Given the description of an element on the screen output the (x, y) to click on. 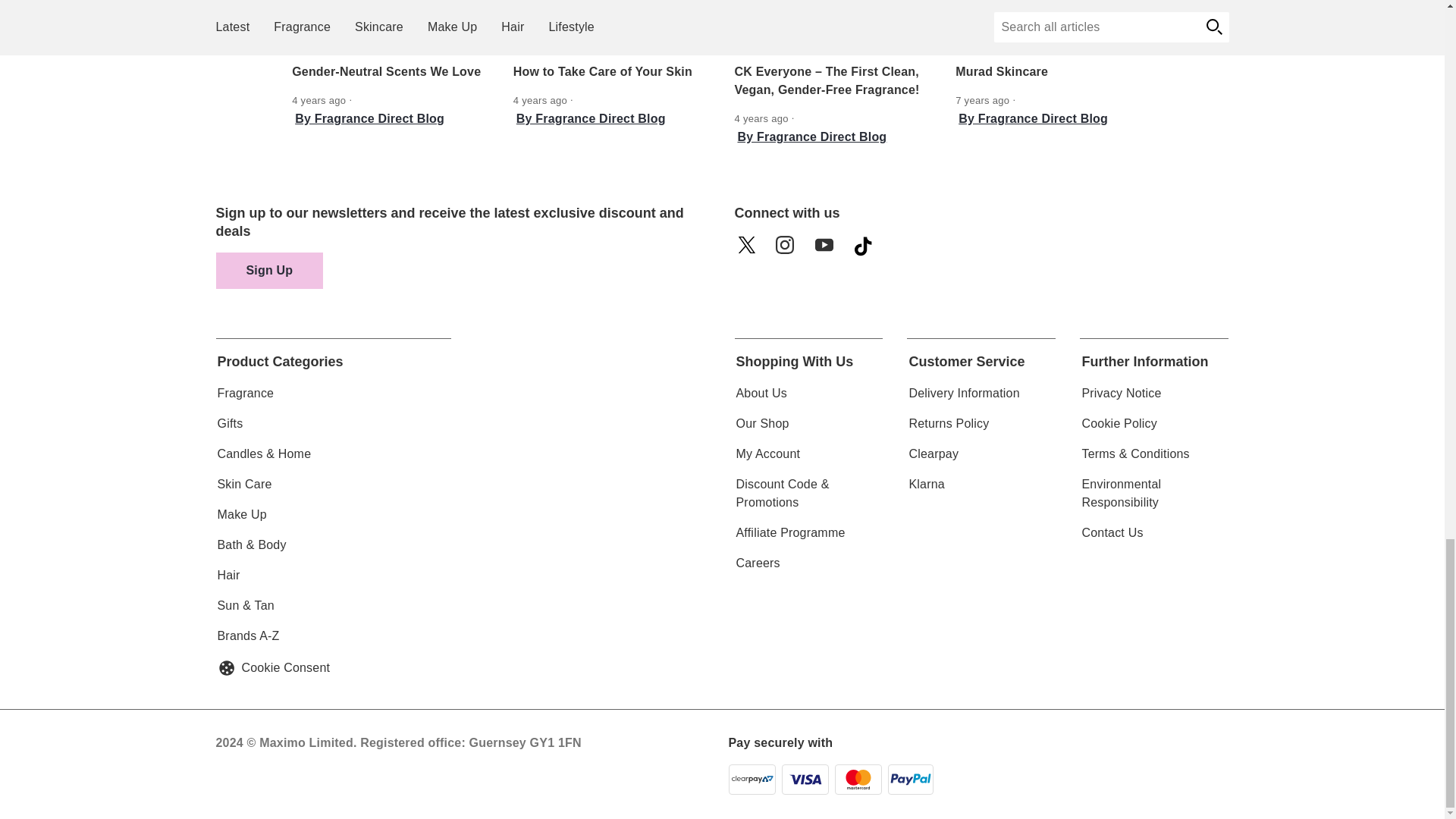
twitter (750, 250)
instagram (789, 250)
tiktok (868, 250)
youtube (828, 250)
